Given the description of an element on the screen output the (x, y) to click on. 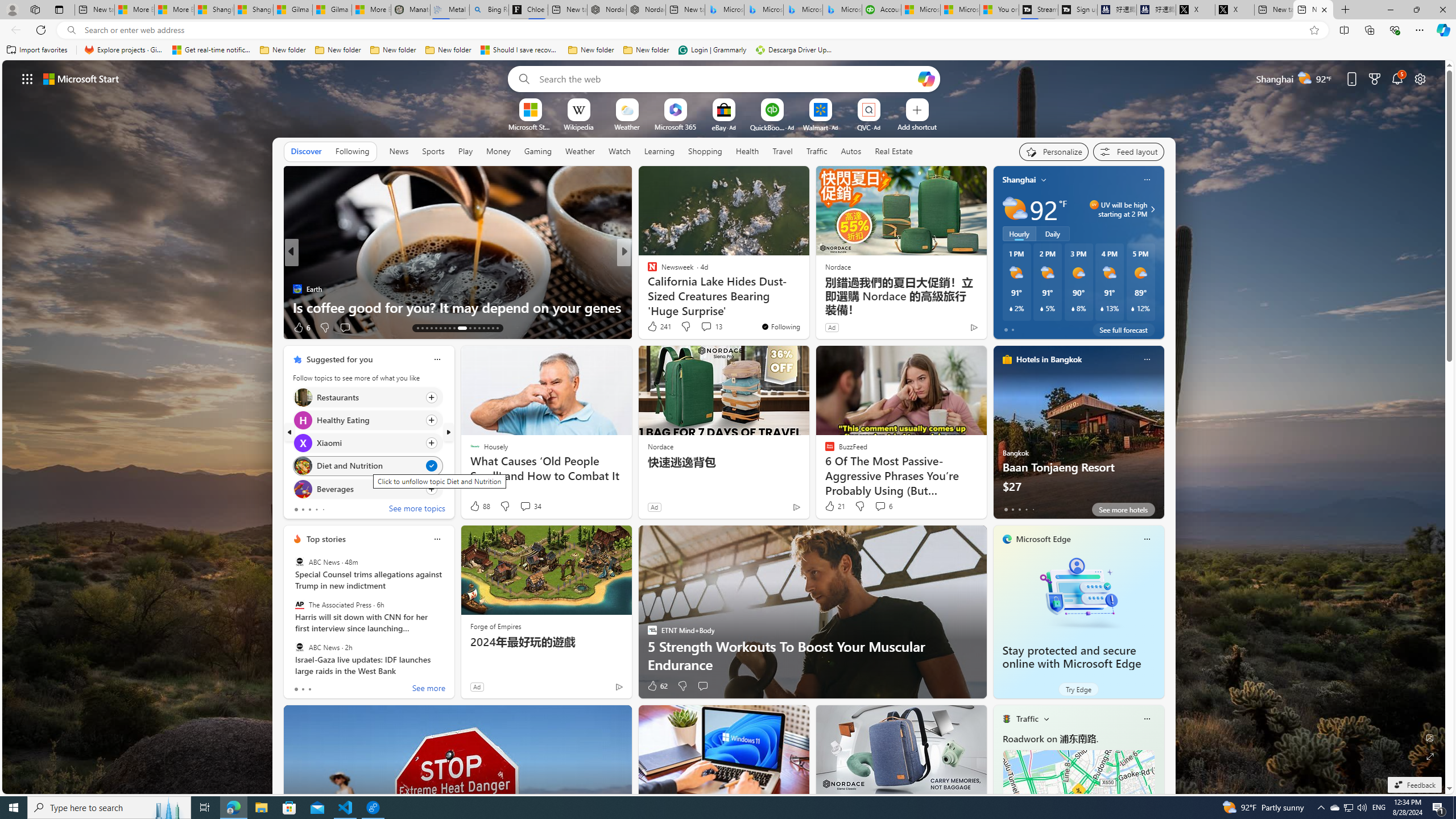
See full forecast (1123, 329)
AutomationID: tab-28 (492, 328)
Login | Grammarly (712, 49)
Close (1442, 9)
AutomationID: tab-17 (435, 328)
Beverages (302, 488)
Click to follow topic Xiaomi (367, 442)
View comments 34 Comment (530, 505)
Weather (580, 151)
Notifications (1397, 78)
Travel (782, 151)
The Associated Press (299, 604)
Chloe Sorvino (528, 9)
